Given the description of an element on the screen output the (x, y) to click on. 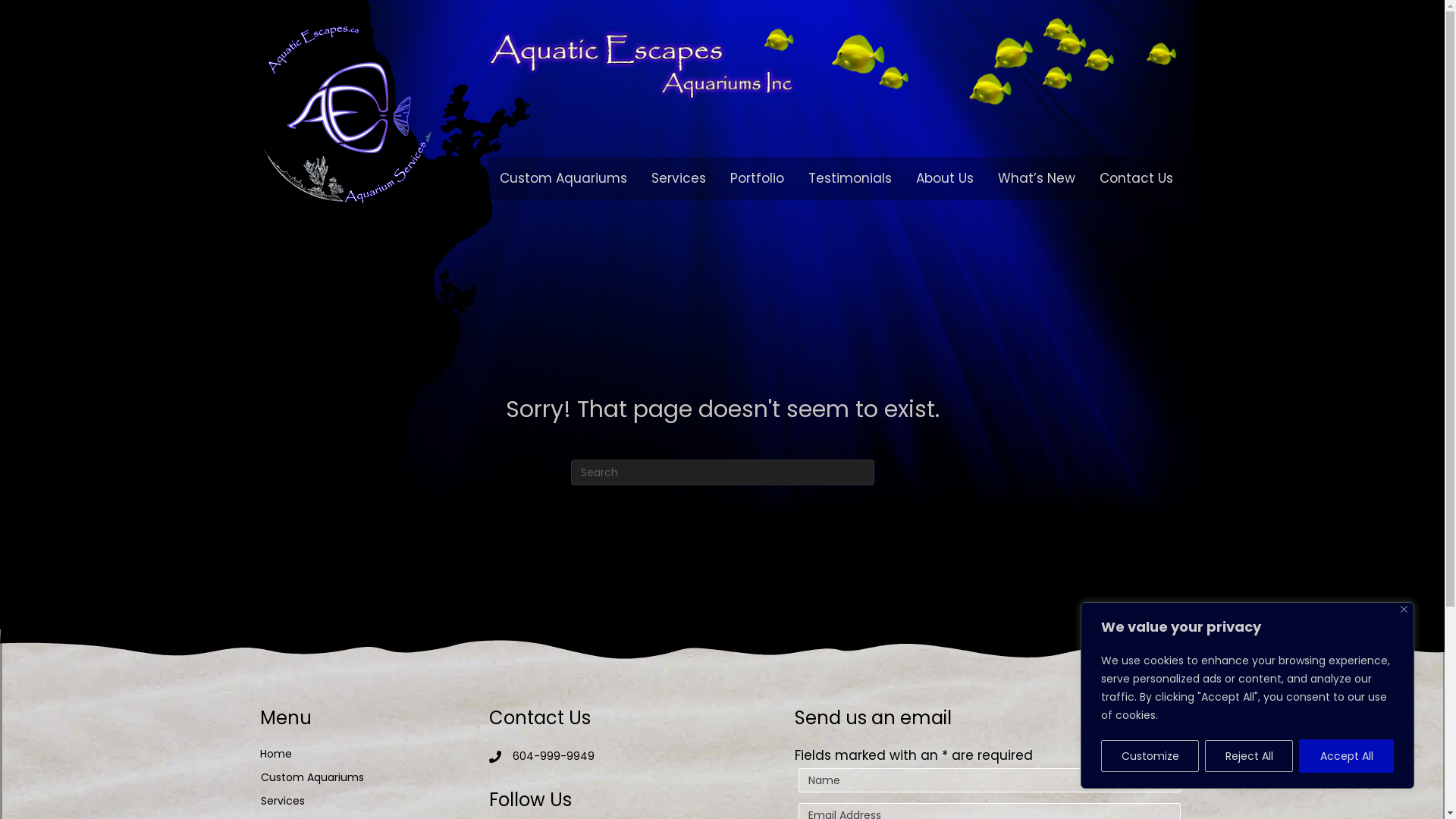
Customize Element type: text (1149, 755)
About Us Element type: text (944, 178)
Services Element type: text (357, 800)
Services Element type: text (678, 178)
604-999-9949 Element type: text (553, 755)
header_text_yellow_fish Element type: hover (831, 61)
Testimonials Element type: text (849, 178)
Custom Aquariums Element type: text (563, 178)
Portfolio Element type: text (757, 178)
Reject All Element type: text (1248, 755)
Type and press Enter to search. Element type: hover (721, 472)
Accept All Element type: text (1346, 755)
logo Element type: hover (344, 114)
Contact Us Element type: text (1136, 178)
Home Element type: text (275, 753)
Custom Aquariums Element type: text (357, 776)
